Given the description of an element on the screen output the (x, y) to click on. 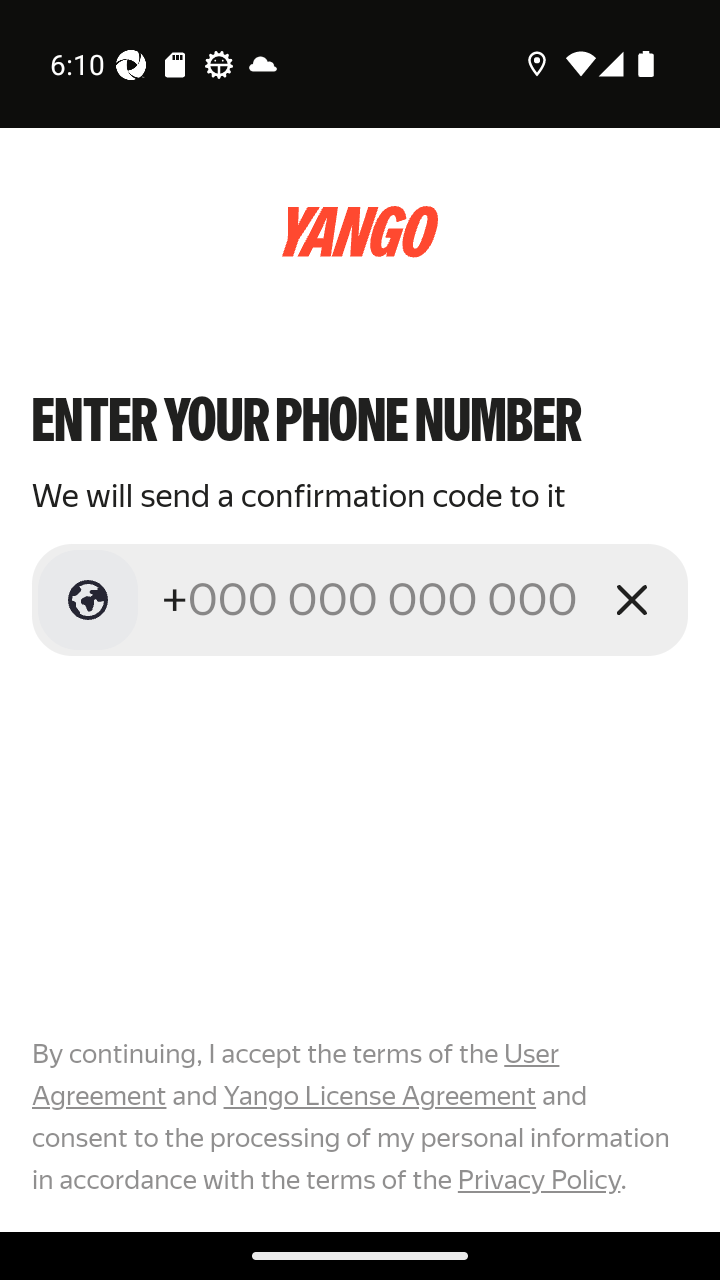
logo (359, 231)
  (88, 600)
+ (372, 599)
User Agreement (295, 1075)
Yango License Agreement (379, 1096)
Privacy Policy (538, 1179)
